Given the description of an element on the screen output the (x, y) to click on. 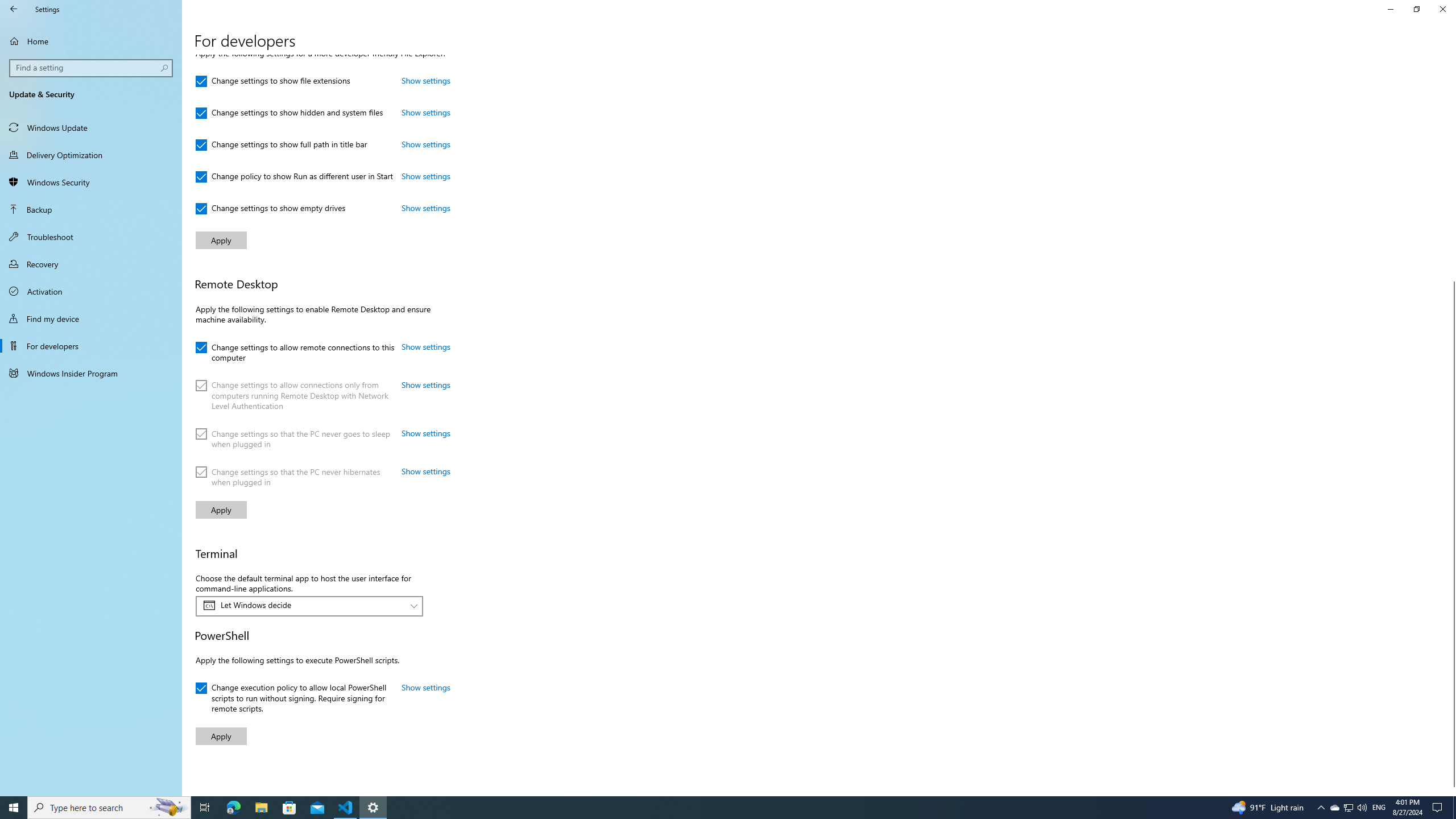
Apply (221, 736)
Vertical Large Decrease (1451, 172)
Troubleshoot (91, 236)
Minimize Settings (1390, 9)
Change policy to show Run as different user in Start (294, 176)
Show settings: Change settings to show empty drives (425, 207)
Windows Update (91, 126)
Recovery (91, 263)
Search box, Find a setting (91, 67)
Activation (91, 290)
